Given the description of an element on the screen output the (x, y) to click on. 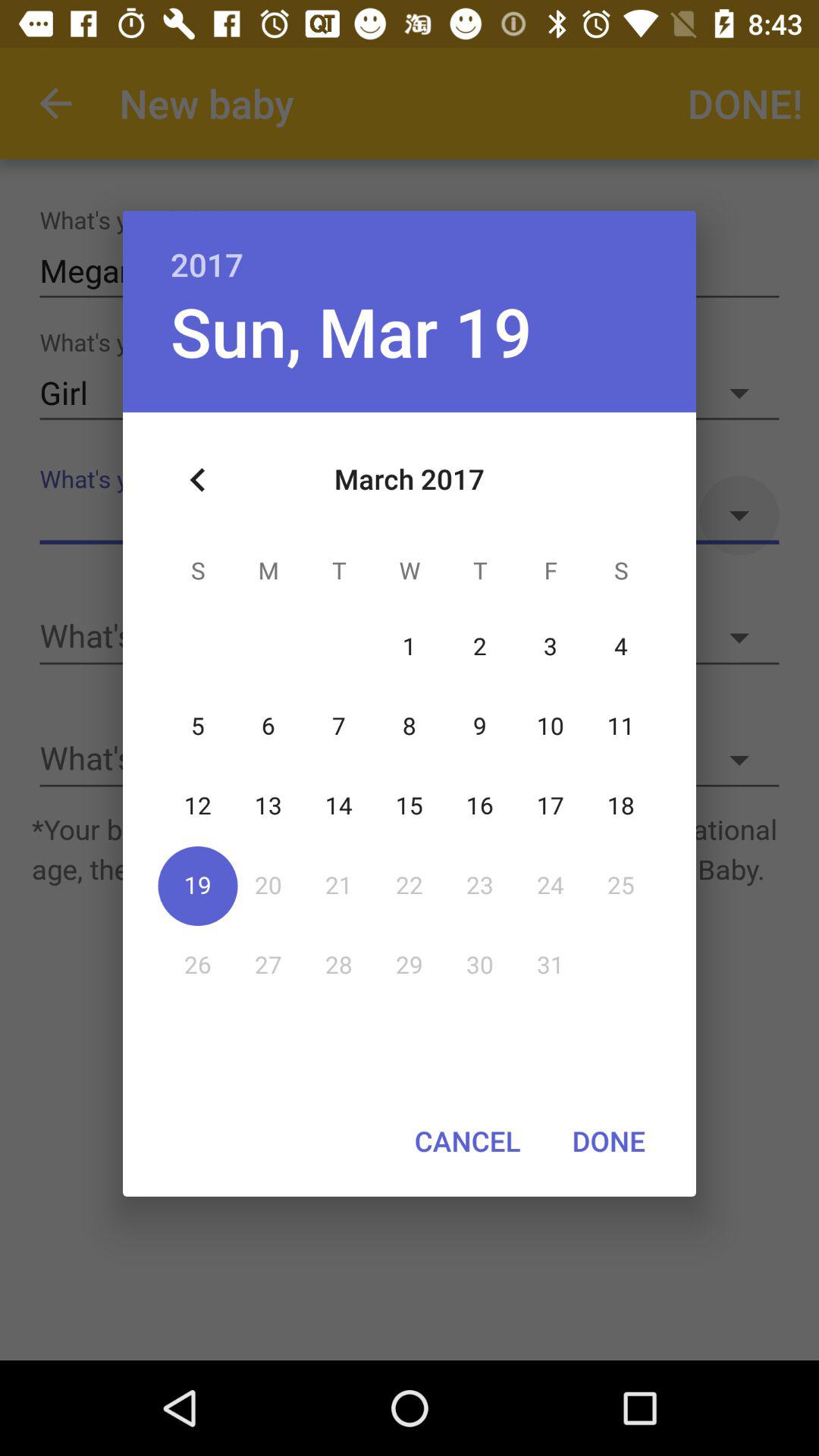
launch the sun, mar 19 icon (351, 331)
